Given the description of an element on the screen output the (x, y) to click on. 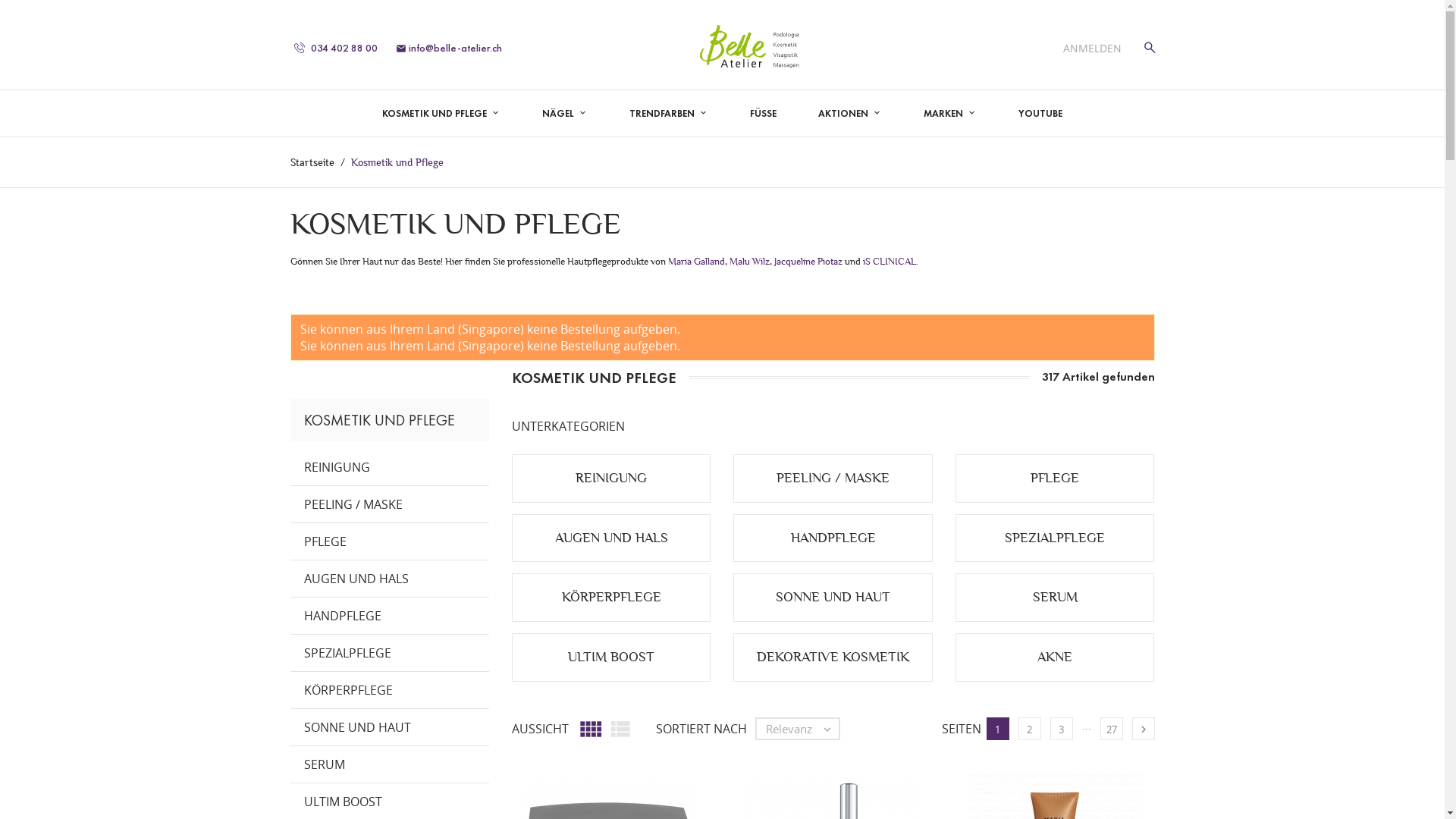
AKNE Element type: text (1054, 656)
SPEZIALPFLEGE Element type: text (389, 652)
ULTIM BOOST Element type: text (610, 656)
2 Element type: text (1028, 728)
034 402 88 00 Element type: text (335, 48)
TRENDFARBEN Element type: text (669, 113)
1 Element type: text (996, 728)
SONNE UND HAUT Element type: text (832, 596)
AUGEN UND HALS Element type: text (389, 578)
AUGEN UND HALS Element type: text (611, 537)
KOSMETIK UND PFLEGE Element type: text (441, 113)
Malu Wilz Element type: text (749, 260)
HANDPFLEGE Element type: text (832, 537)
HANDPFLEGE Element type: text (389, 615)
SPEZIALPFLEGE Element type: text (1054, 537)
PFLEGE Element type: text (1054, 477)
SONNE UND HAUT Element type: text (389, 727)
PFLEGE Element type: text (389, 541)
3 Element type: text (1060, 728)
AKTIONEN Element type: text (849, 113)
YOUTUBE Element type: text (1039, 113)
SERUM Element type: text (389, 764)
ANMELDEN Element type: text (1091, 48)
MARKEN Element type: text (949, 113)
Kosmetik und Pflege Element type: text (396, 162)
Jacqueline Piotaz Element type: text (807, 260)
PEELING / MASKE Element type: text (389, 504)
27 Element type: text (1110, 728)
Maria Galland Element type: text (695, 260)
iS CLINICAL Element type: text (889, 260)
REINIGUNG Element type: text (389, 467)
REINIGUNG Element type: text (610, 477)
SERUM Element type: text (1054, 596)
Startseite Element type: text (312, 162)
PEELING / MASKE Element type: text (832, 477)
DEKORATIVE KOSMETIK Element type: text (832, 656)
